Given the description of an element on the screen output the (x, y) to click on. 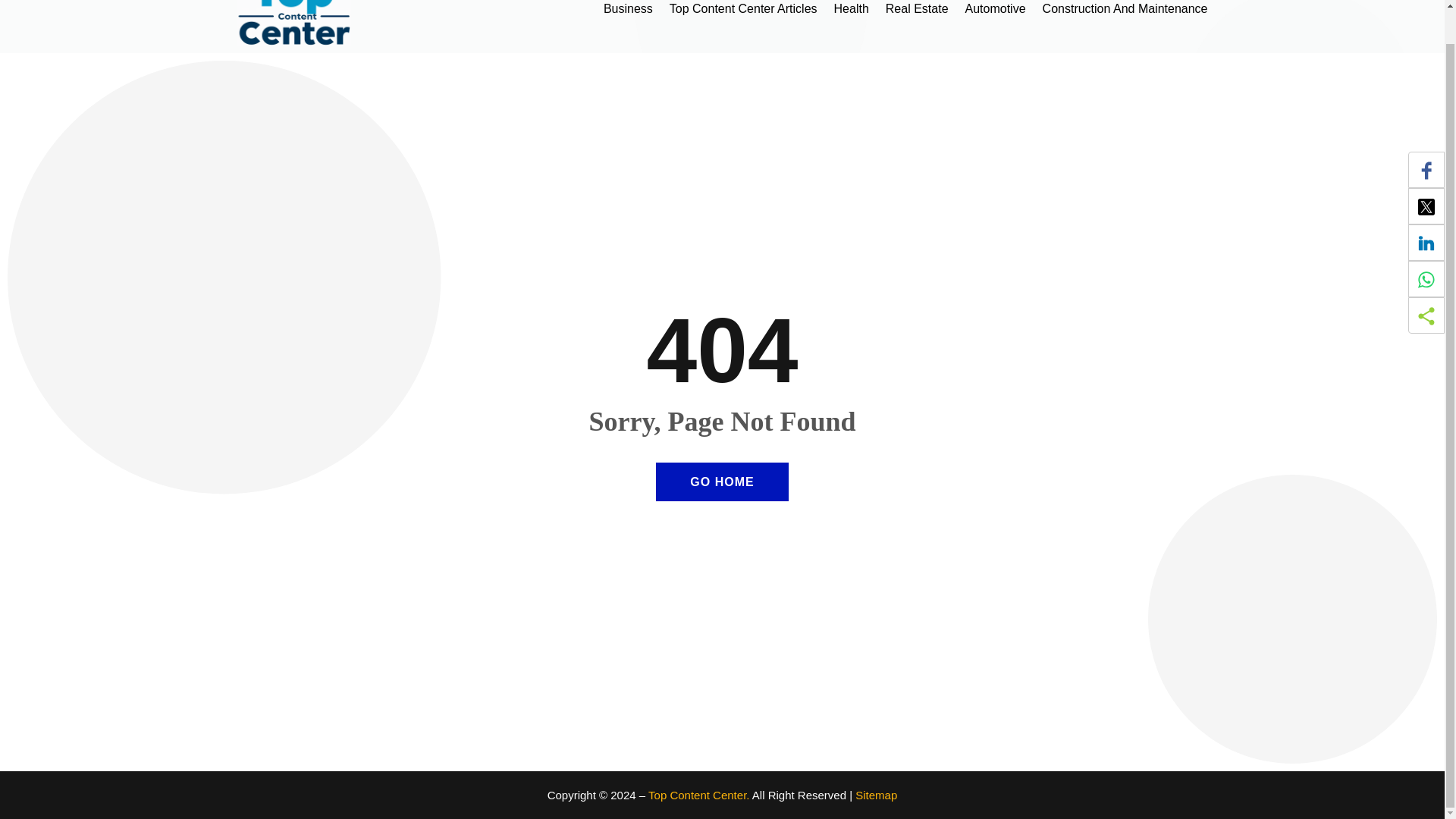
Construction And Maintenance (1125, 22)
Sitemap (876, 794)
GO HOME (721, 481)
Top Content Center Articles (742, 22)
Real Estate (917, 22)
Top Content Center. (698, 794)
Business (628, 22)
Automotive (995, 22)
